Given the description of an element on the screen output the (x, y) to click on. 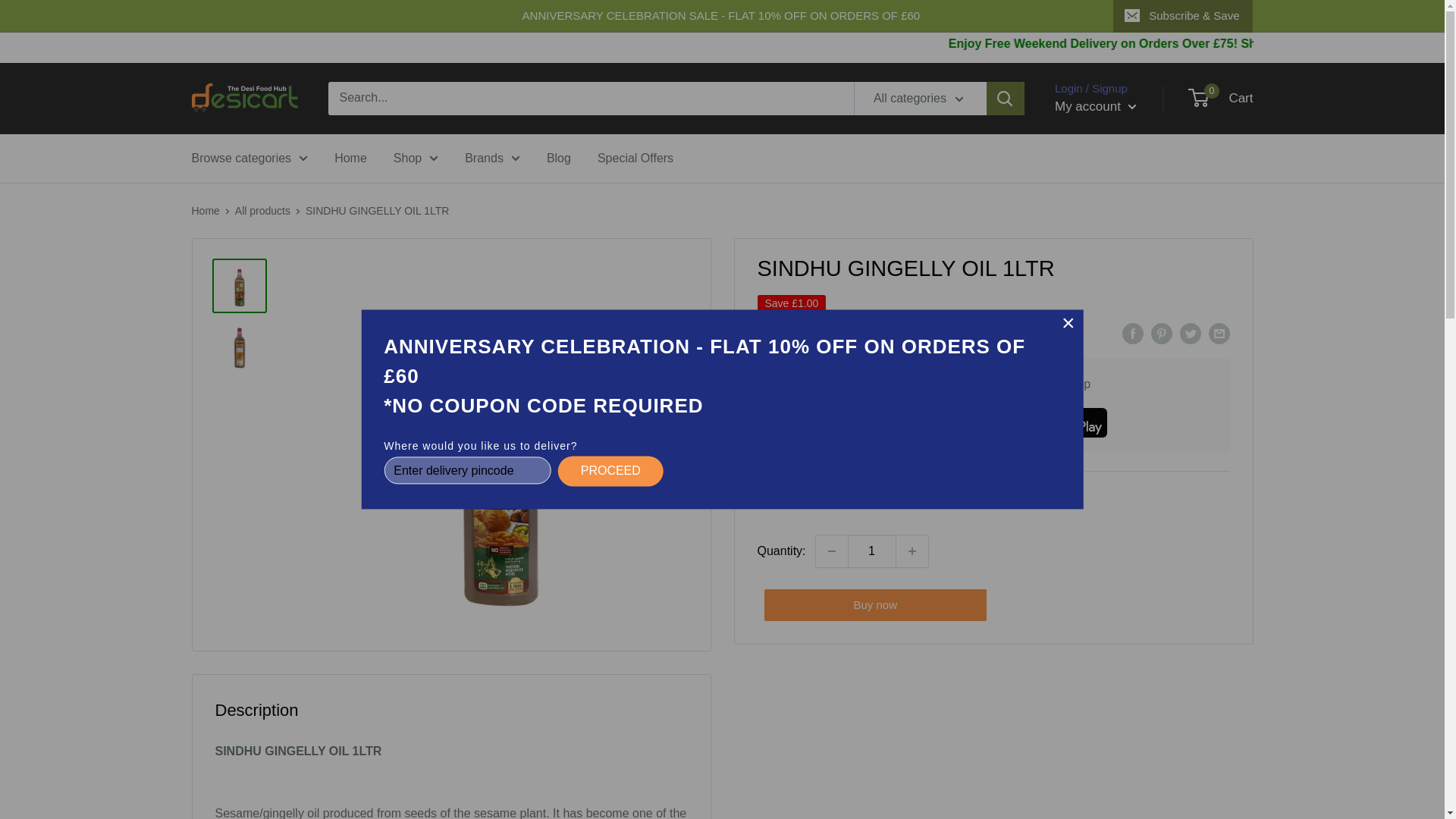
1 (871, 551)
Increase quantity by 1 (912, 551)
Decrease quantity by 1 (831, 551)
